Given the description of an element on the screen output the (x, y) to click on. 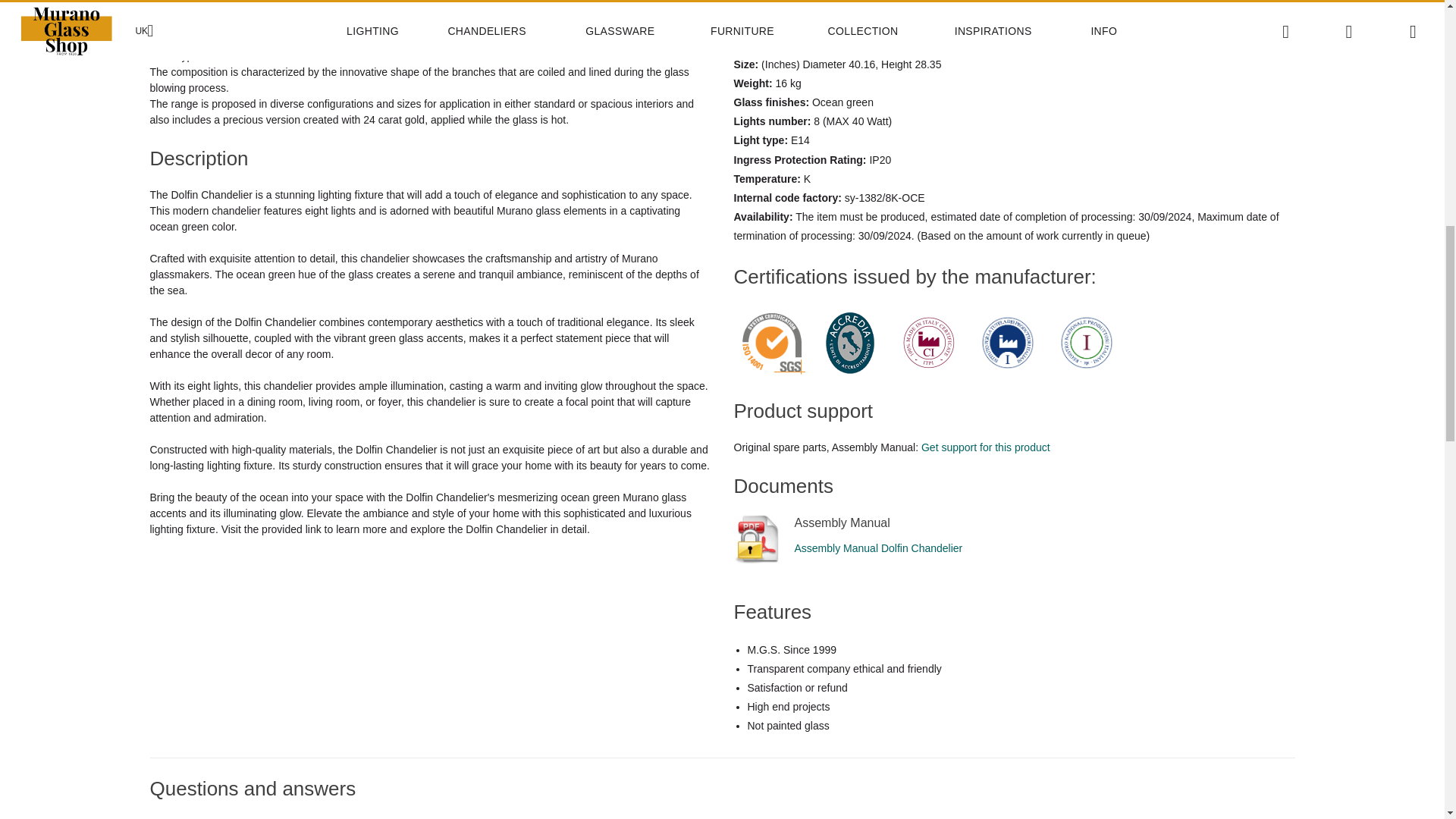
Ente italiano di accreditamento (850, 342)
Gestione ambientale ISO 14001:2004 (771, 342)
Istituto per la tutela dei produttori Italiani (1007, 342)
Registro nazionale produttori italiani (1086, 342)
